Given the description of an element on the screen output the (x, y) to click on. 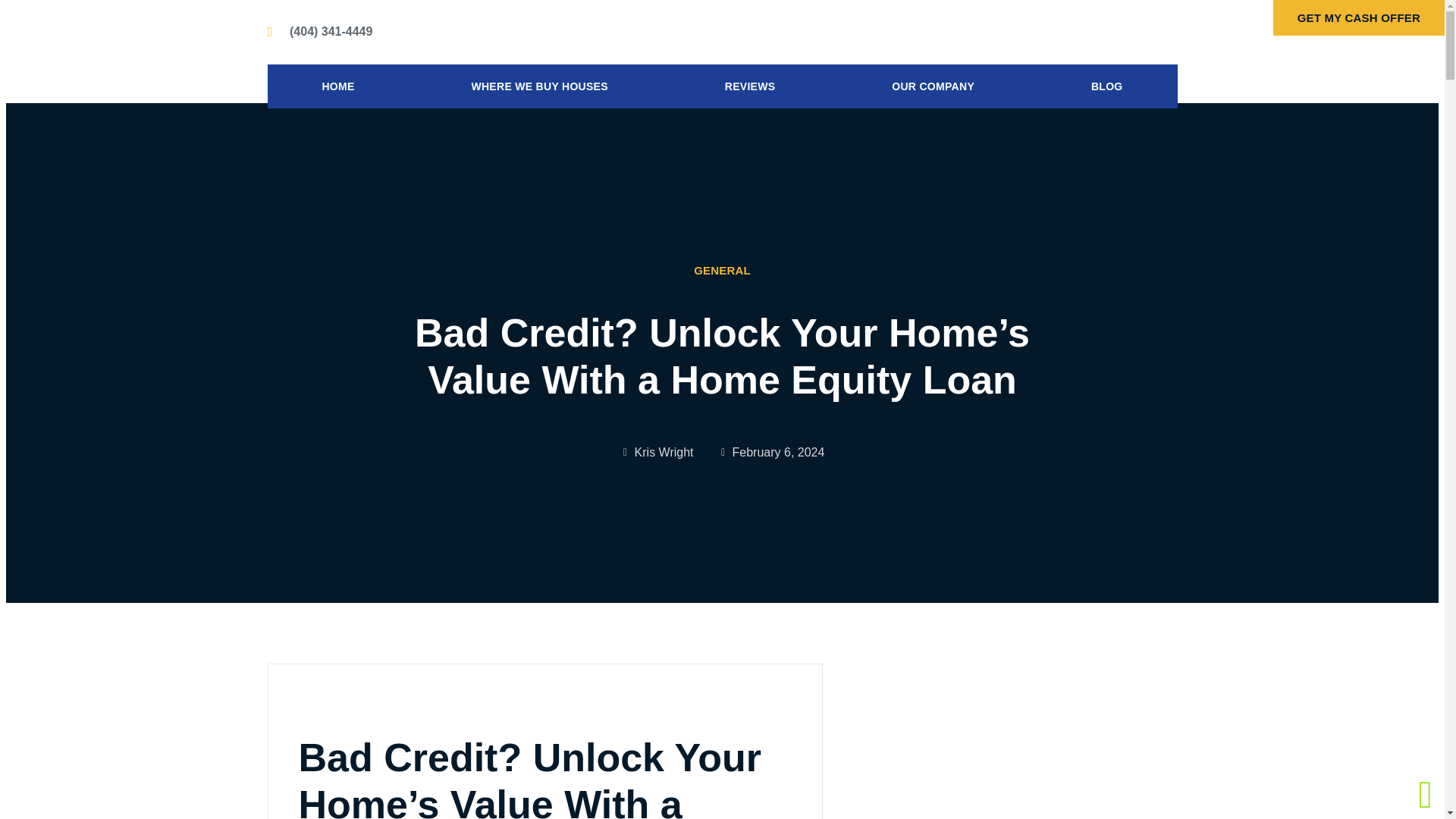
GENERAL (722, 269)
WHERE WE BUY HOUSES (539, 86)
OUR COMPANY (933, 86)
Kris Wright (657, 452)
HOME (337, 86)
BLOG (1106, 86)
February 6, 2024 (771, 452)
REVIEWS (749, 86)
